Given the description of an element on the screen output the (x, y) to click on. 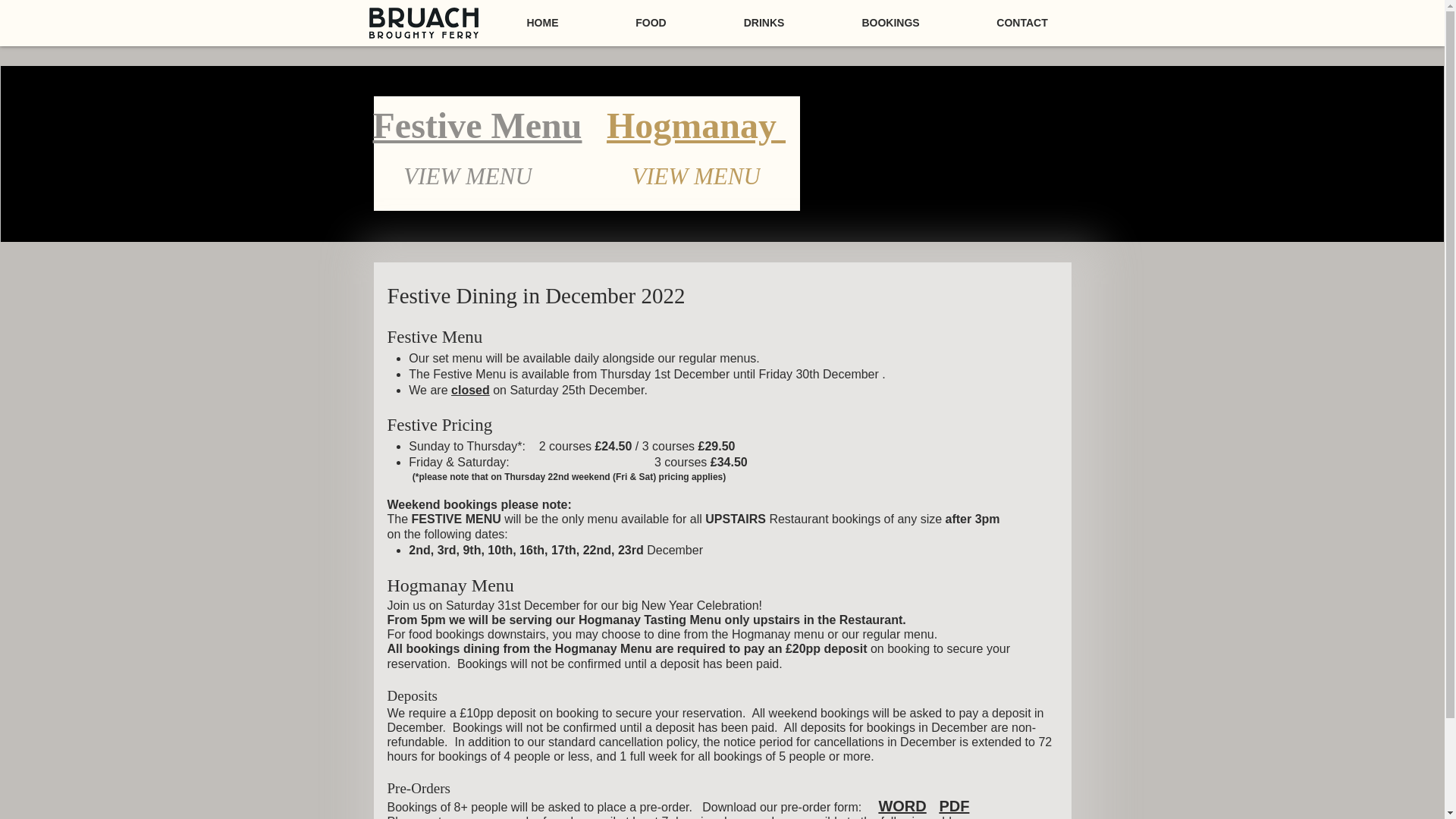
Bruach Logo Trans.png (422, 22)
FOOD (650, 22)
VIEW MENU (467, 176)
Hogmanay  (696, 125)
CONTACT (1022, 22)
VIEW MENU (695, 176)
Festive Menu (477, 125)
PDF (954, 805)
WORD (901, 805)
DRINKS (764, 22)
HOME (541, 22)
BOOKINGS (891, 22)
